Given the description of an element on the screen output the (x, y) to click on. 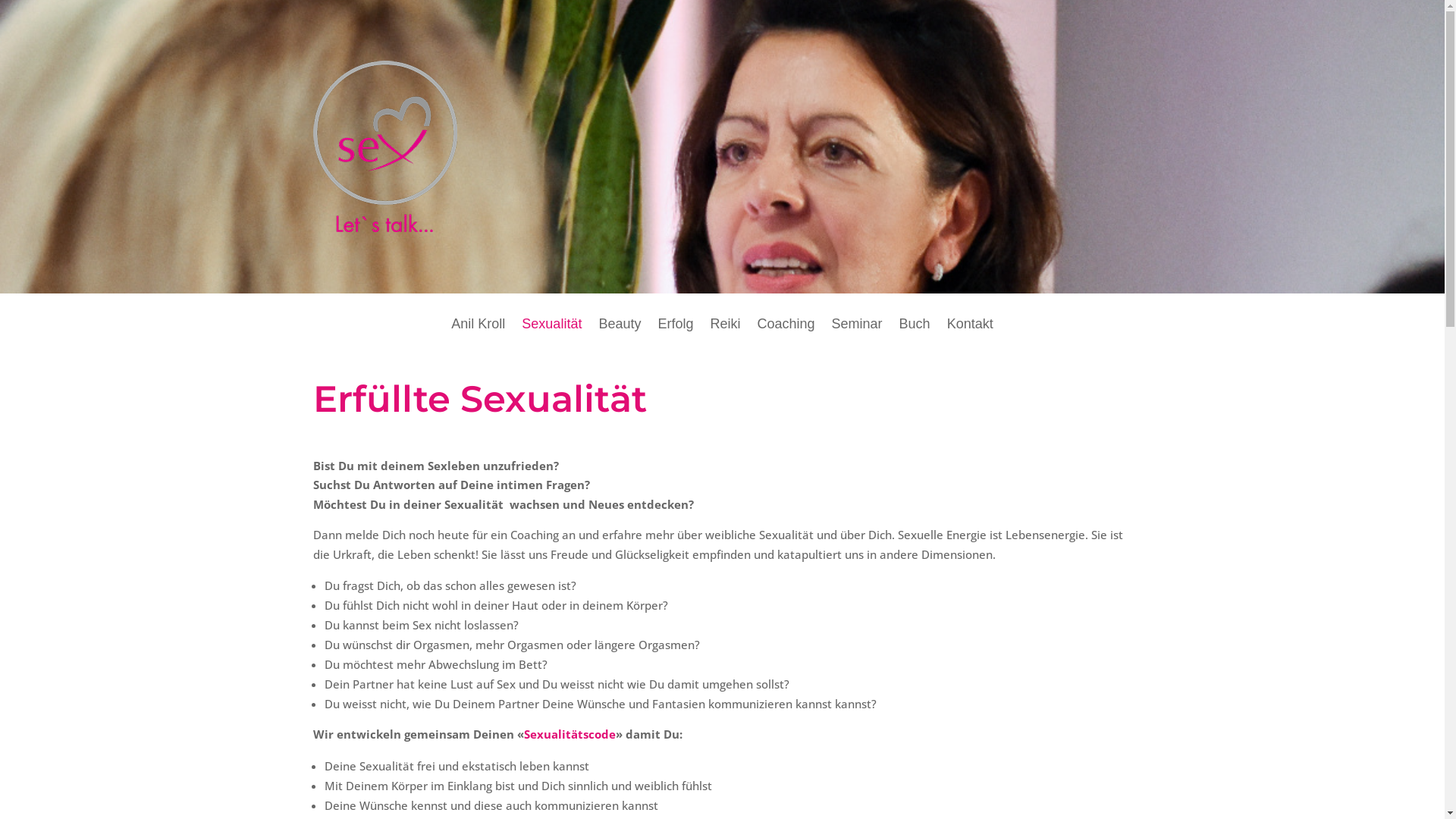
Kontakt Element type: text (970, 334)
Coaching Element type: text (785, 334)
Anil Kroll Element type: text (478, 334)
Reiki Element type: text (724, 334)
Buch Element type: text (914, 334)
Erfolg Element type: text (675, 334)
Beauty Element type: text (619, 334)
Seminar Element type: text (856, 334)
